Given the description of an element on the screen output the (x, y) to click on. 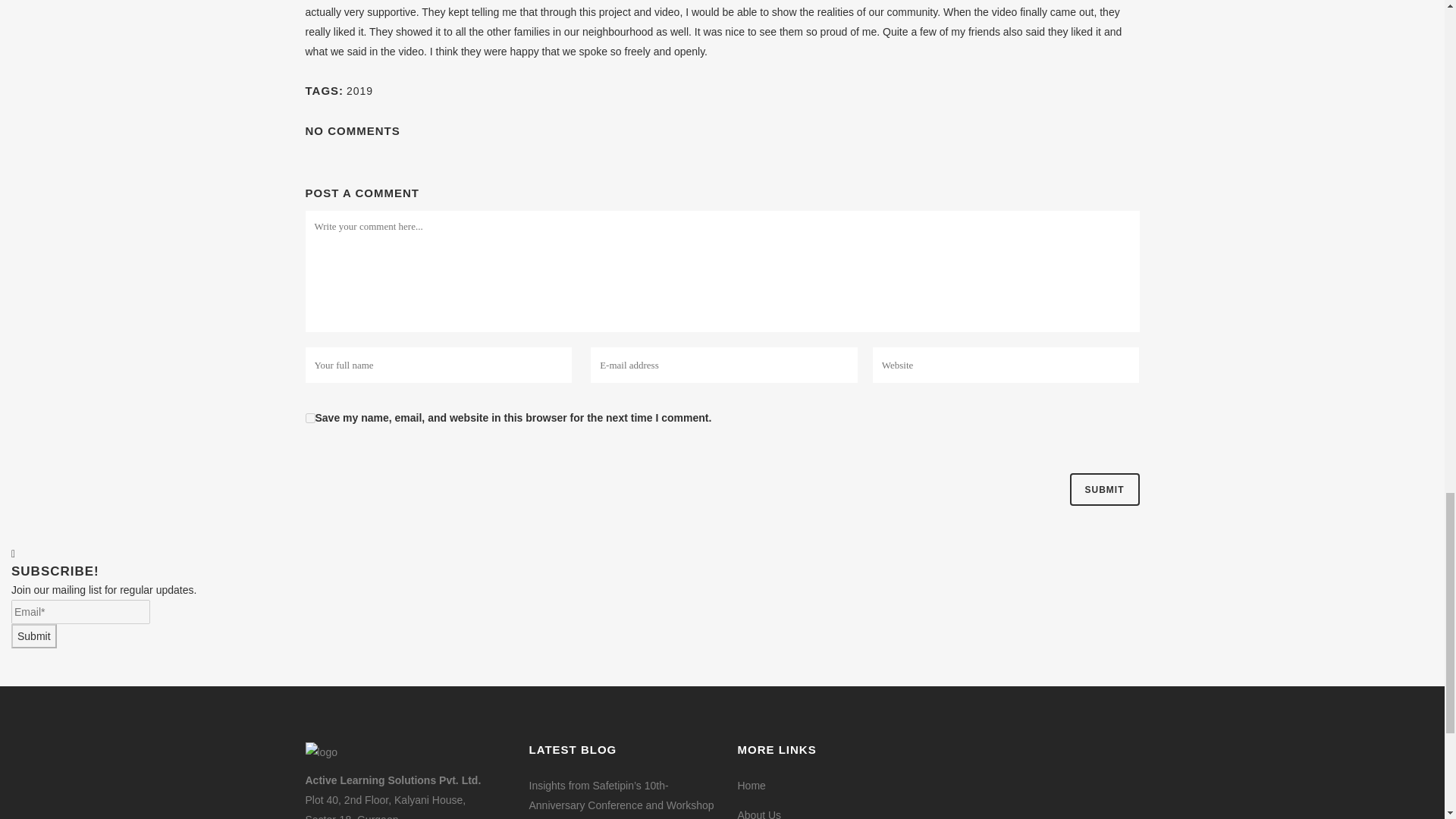
Submit (1103, 489)
yes (309, 418)
Submit (33, 636)
